Given the description of an element on the screen output the (x, y) to click on. 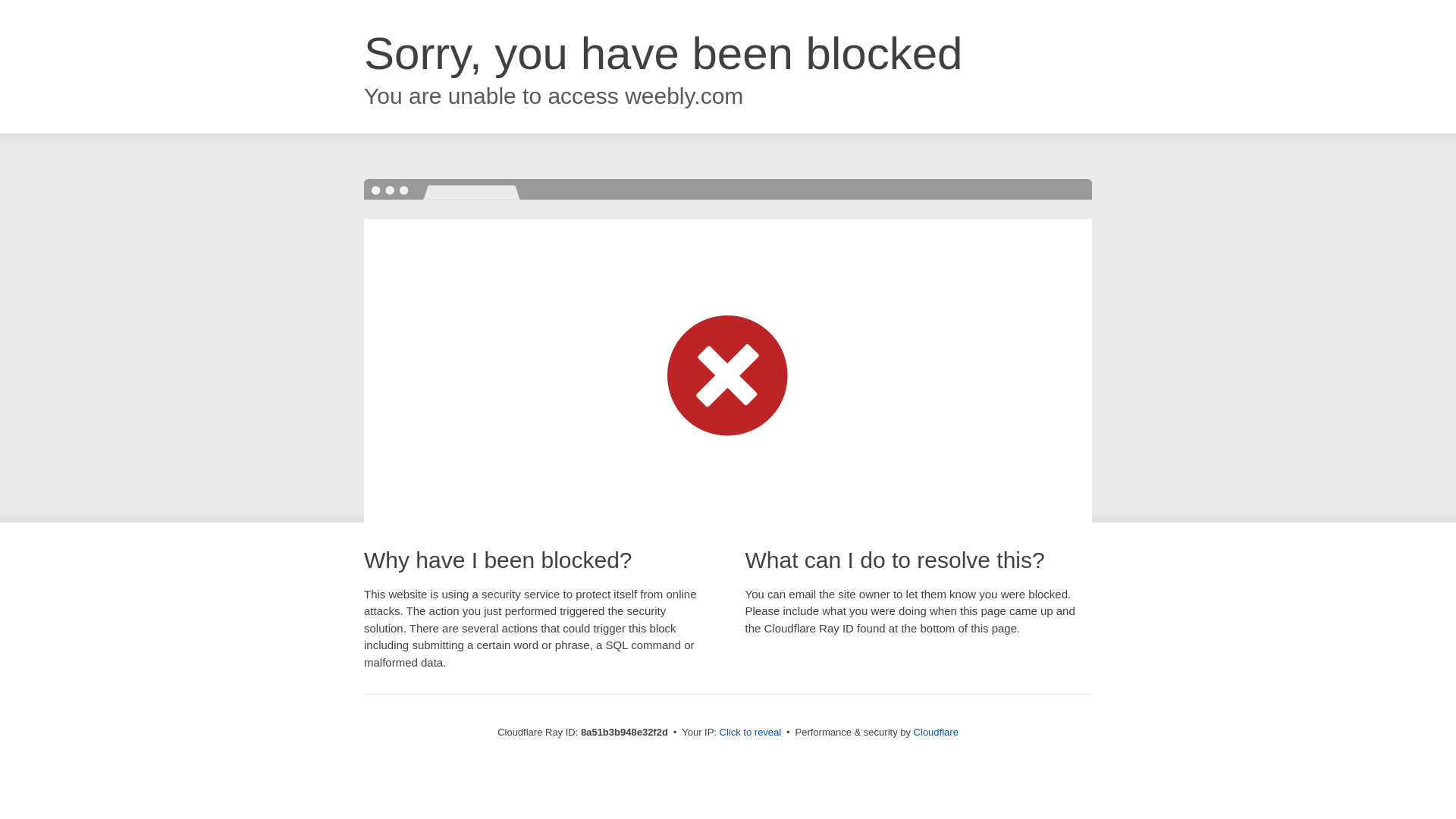
Cloudflare (936, 731)
Click to reveal (750, 732)
